Given the description of an element on the screen output the (x, y) to click on. 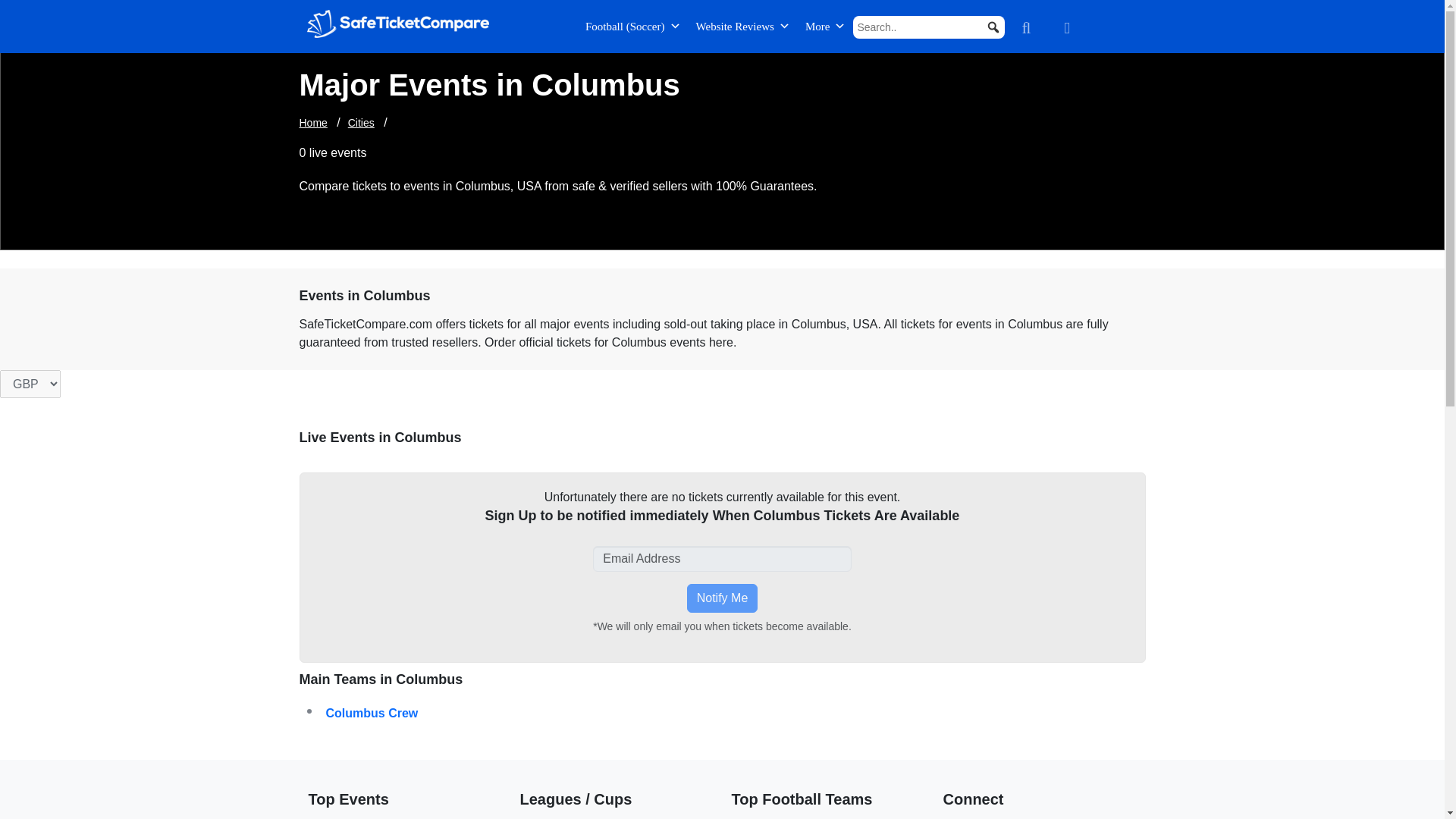
Columbus Crew (524, 713)
